Given the description of an element on the screen output the (x, y) to click on. 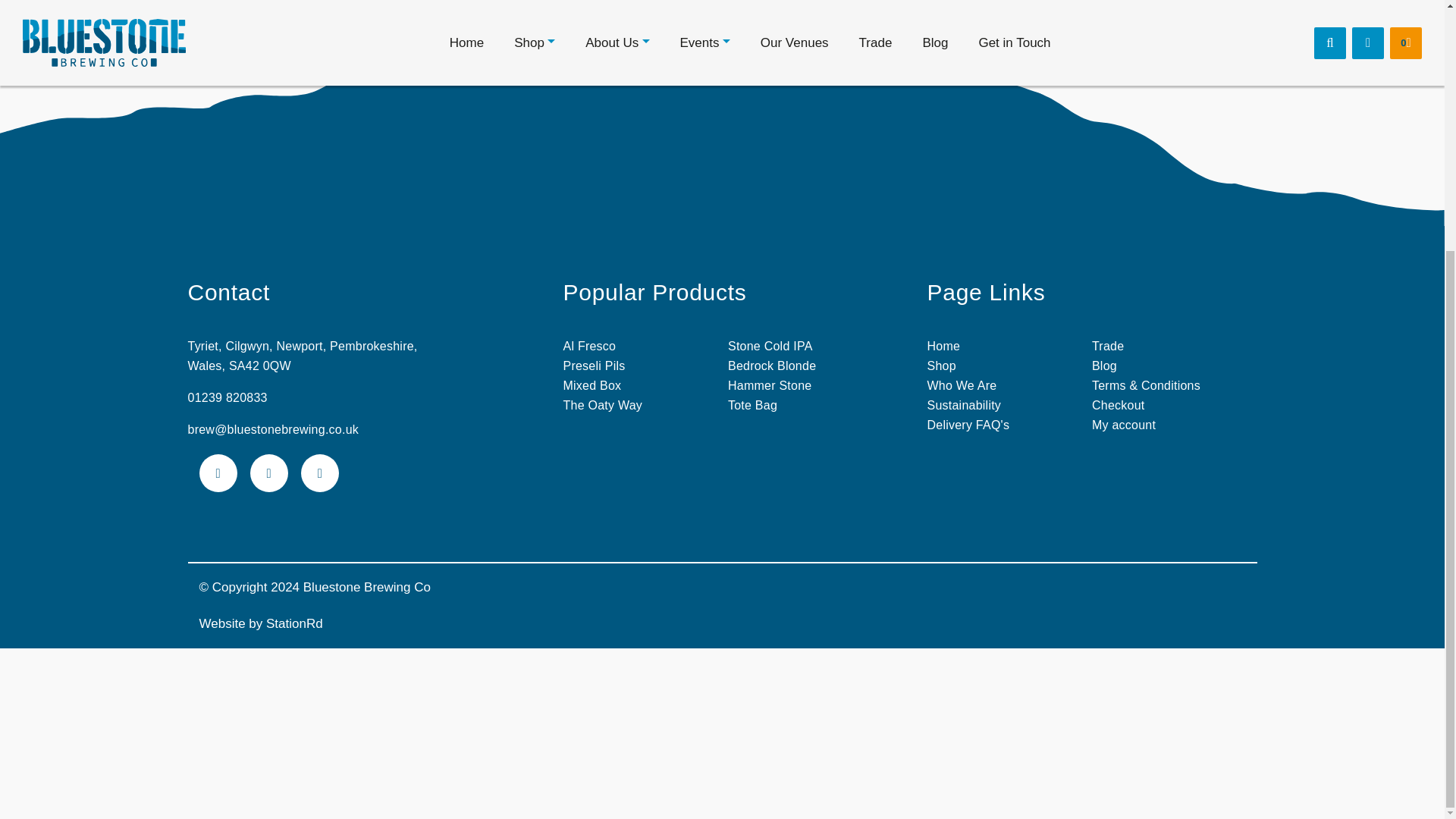
Al Fresco (588, 345)
Hammer Stone (769, 385)
01239 820833 (227, 397)
The Oaty Way (602, 404)
Bedrock Blonde (771, 365)
Preseli Pils (593, 365)
Mixed Box (591, 385)
Stone Cold IPA (770, 345)
